Given the description of an element on the screen output the (x, y) to click on. 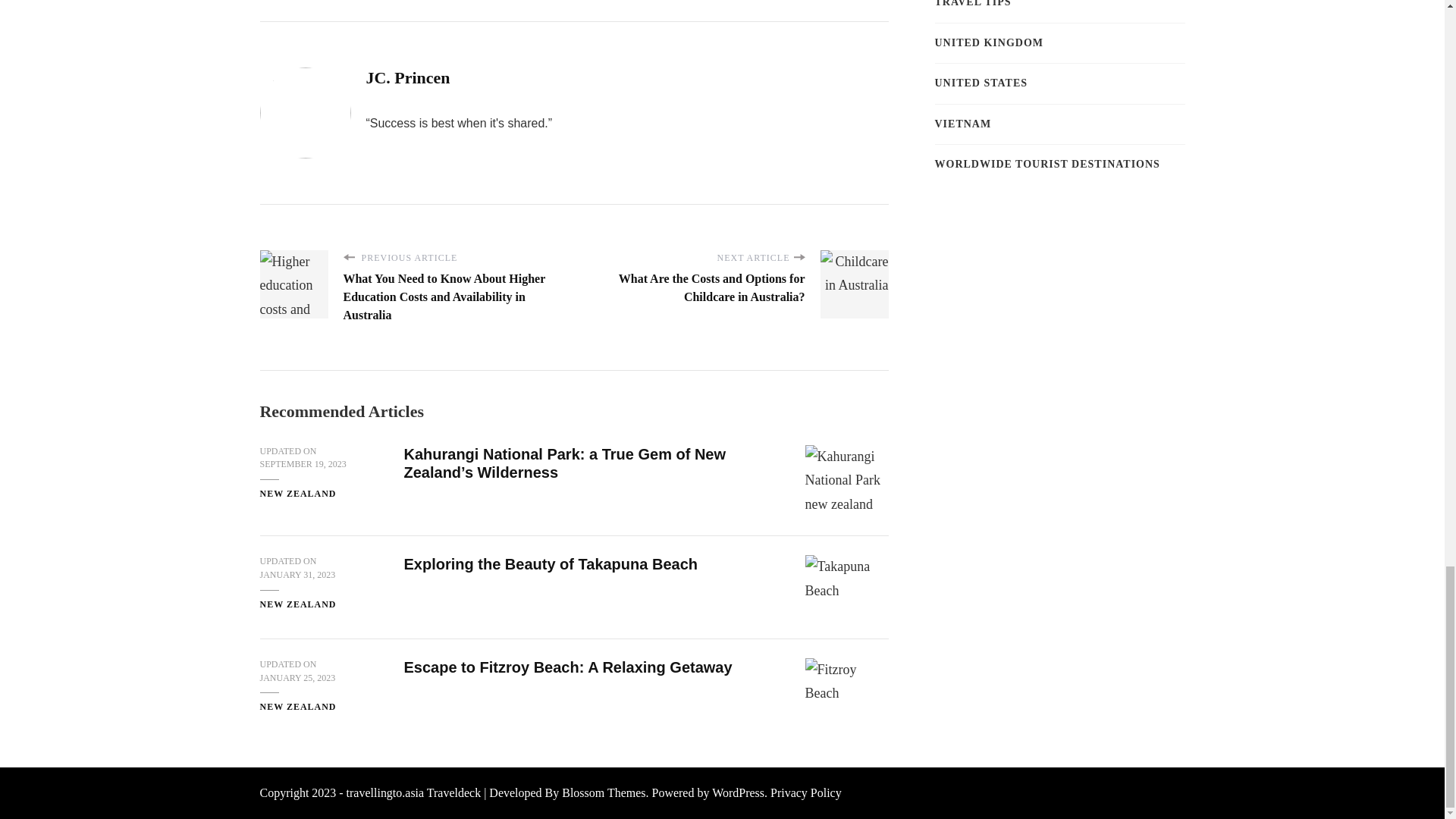
Escape to Fitzroy Beach: A Relaxing Getaway (567, 667)
Exploring the Beauty of Takapuna Beach (550, 564)
NEW ZEALAND (297, 604)
NEW ZEALAND (297, 494)
NEW ZEALAND (297, 707)
JANUARY 31, 2023 (296, 575)
JANUARY 25, 2023 (296, 678)
SEPTEMBER 19, 2023 (302, 464)
